Given the description of an element on the screen output the (x, y) to click on. 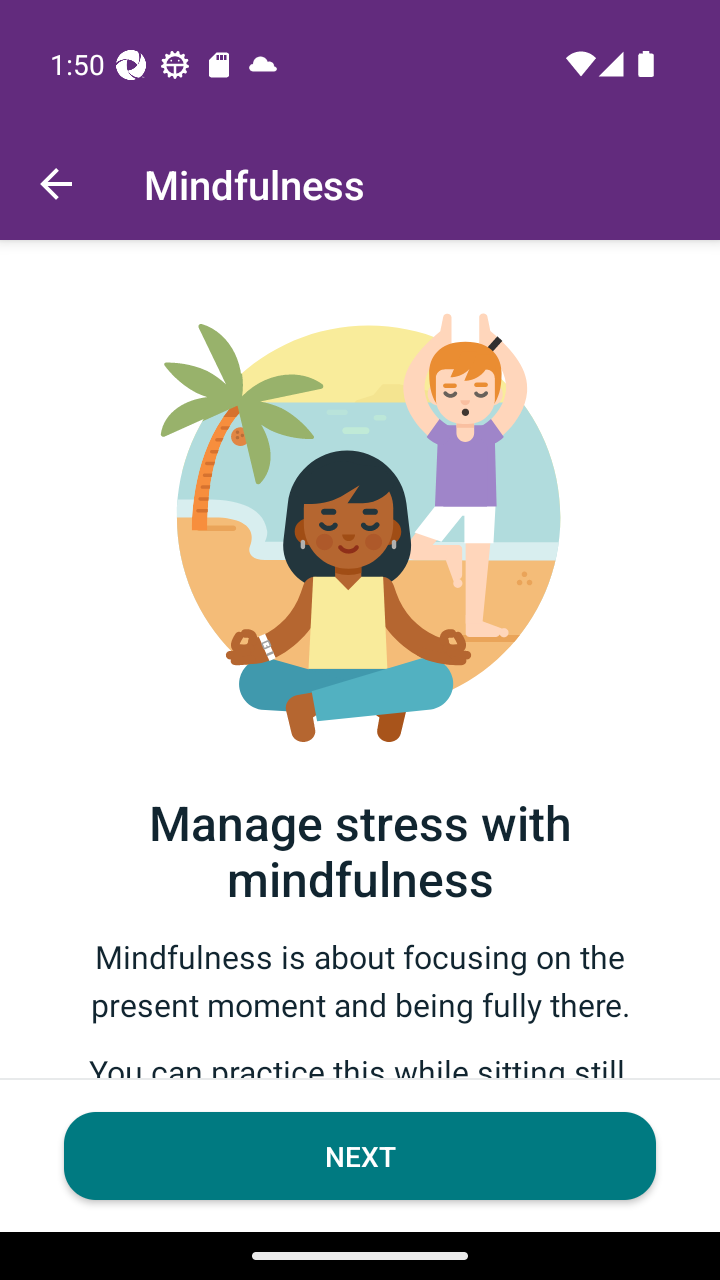
Navigate up (56, 184)
NEXT (359, 1156)
